Given the description of an element on the screen output the (x, y) to click on. 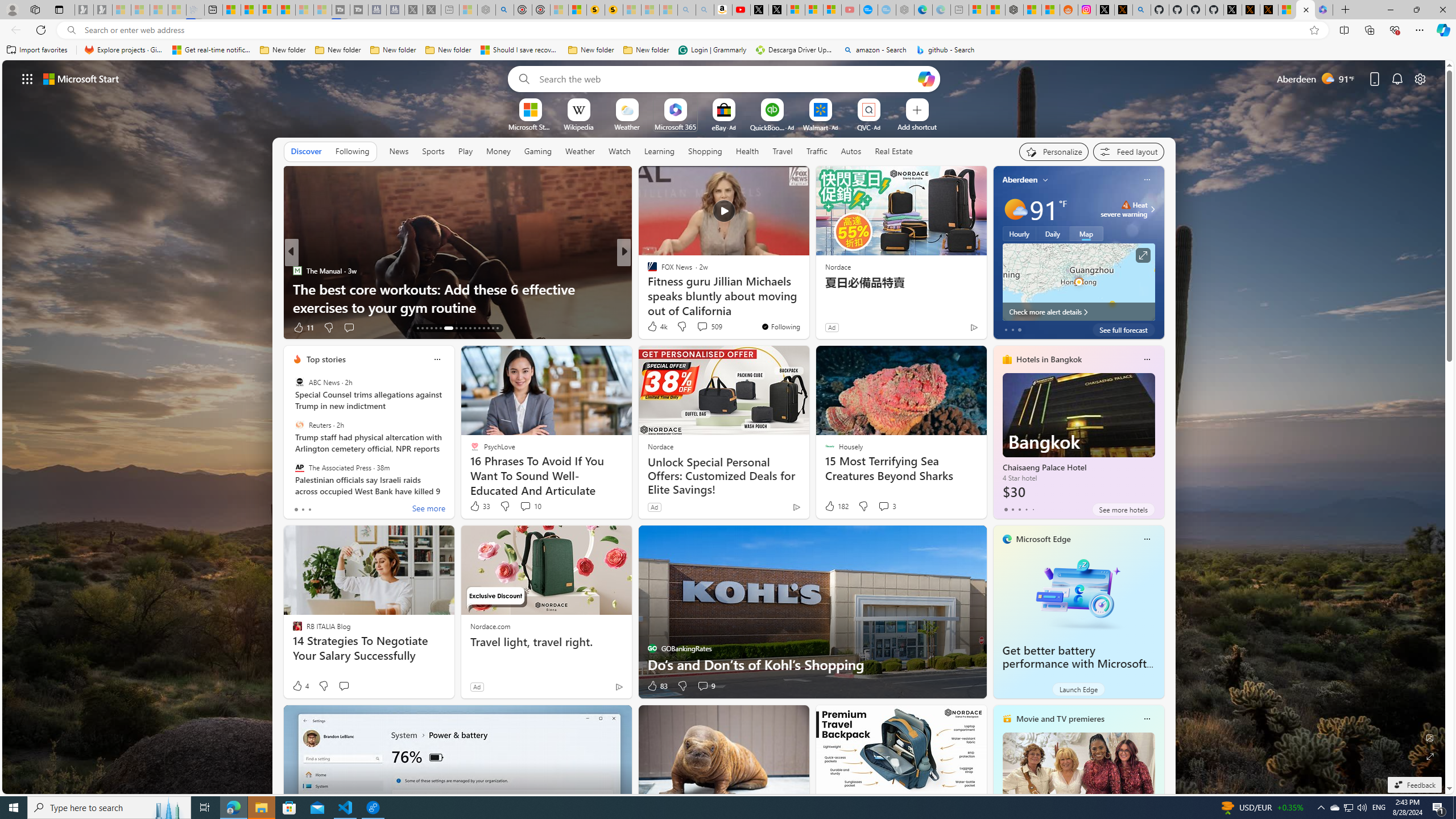
Page settings (1420, 78)
Nordace - Duffels (1013, 9)
Movie and TV premieres (1060, 718)
View comments 8 Comment (703, 327)
AutomationID: tab-27 (488, 328)
Amazon Echo Dot PNG - Search Images - Sleeping (705, 9)
182 Like (835, 505)
AutomationID: tab-25 (478, 328)
Watch (619, 151)
Weather (580, 151)
